Given the description of an element on the screen output the (x, y) to click on. 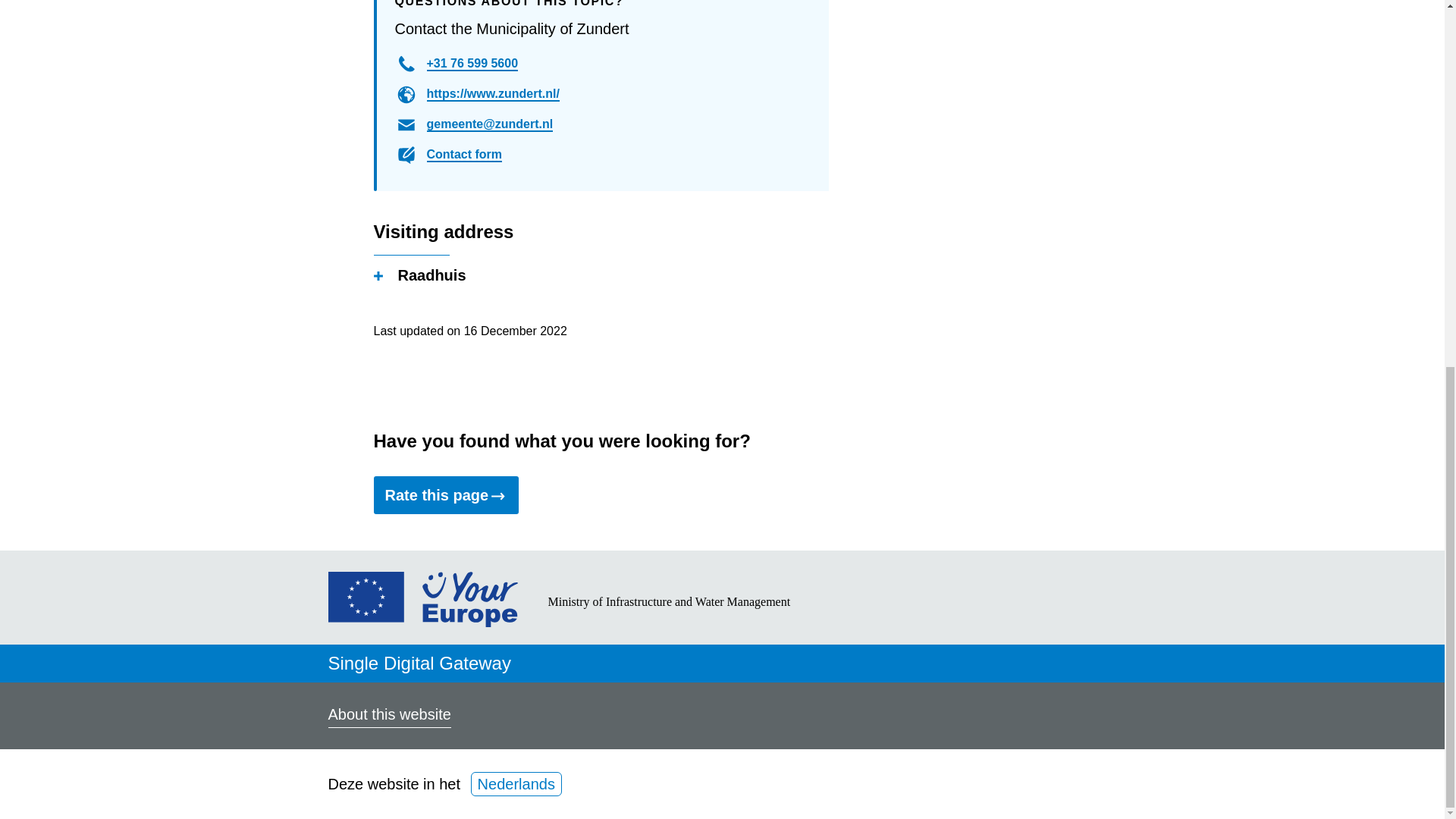
About this website (388, 715)
Rate this page (445, 494)
Raadhuis (418, 276)
Nederlands (516, 784)
Go to the European Union's Your Europe portal homepage (421, 621)
Contact form (464, 155)
